Given the description of an element on the screen output the (x, y) to click on. 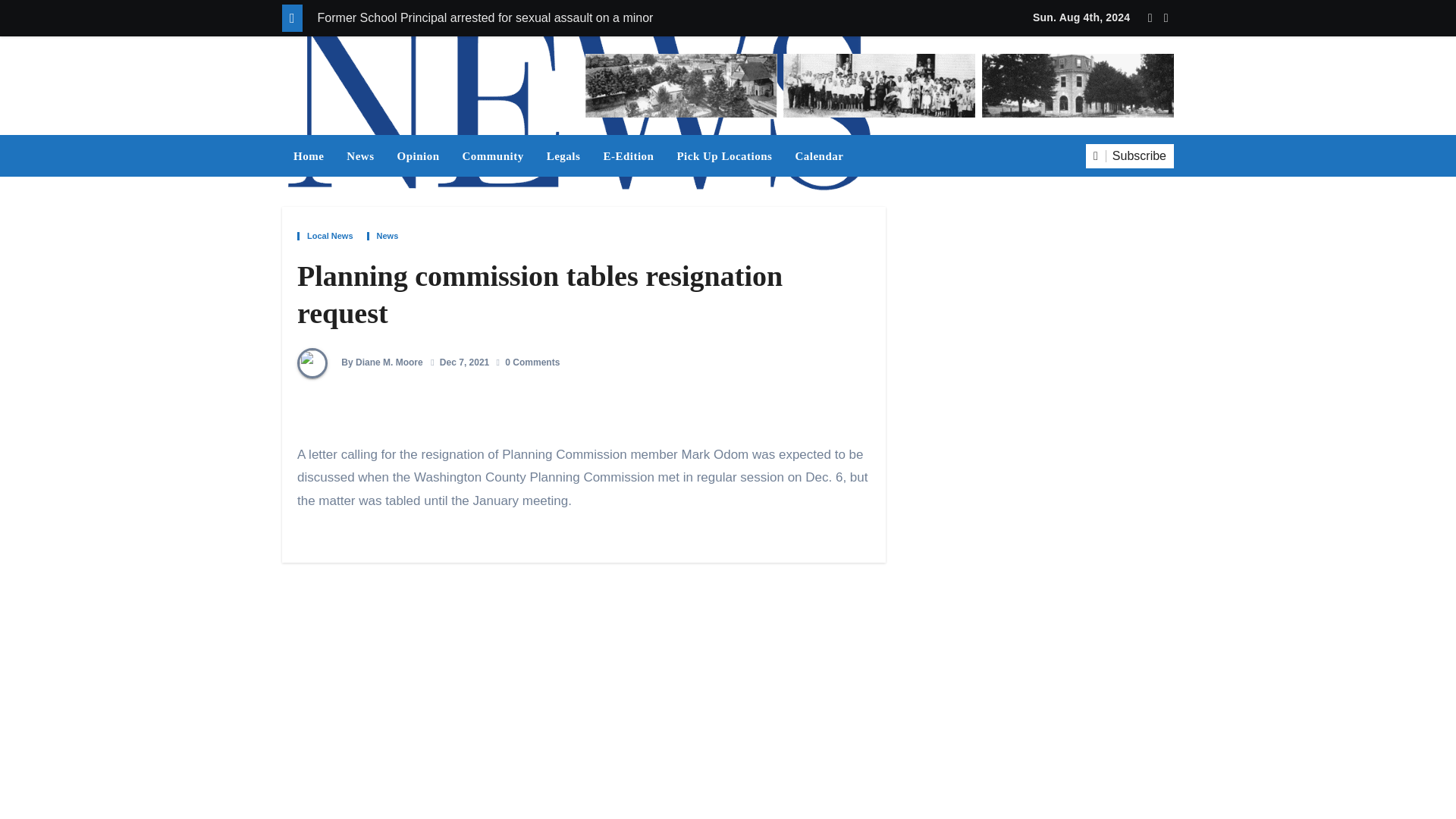
Community (493, 155)
Pick Up Locations (724, 155)
Legals (563, 155)
Opinion (417, 155)
Home (308, 155)
News (359, 155)
E-Edition (628, 155)
